Given the description of an element on the screen output the (x, y) to click on. 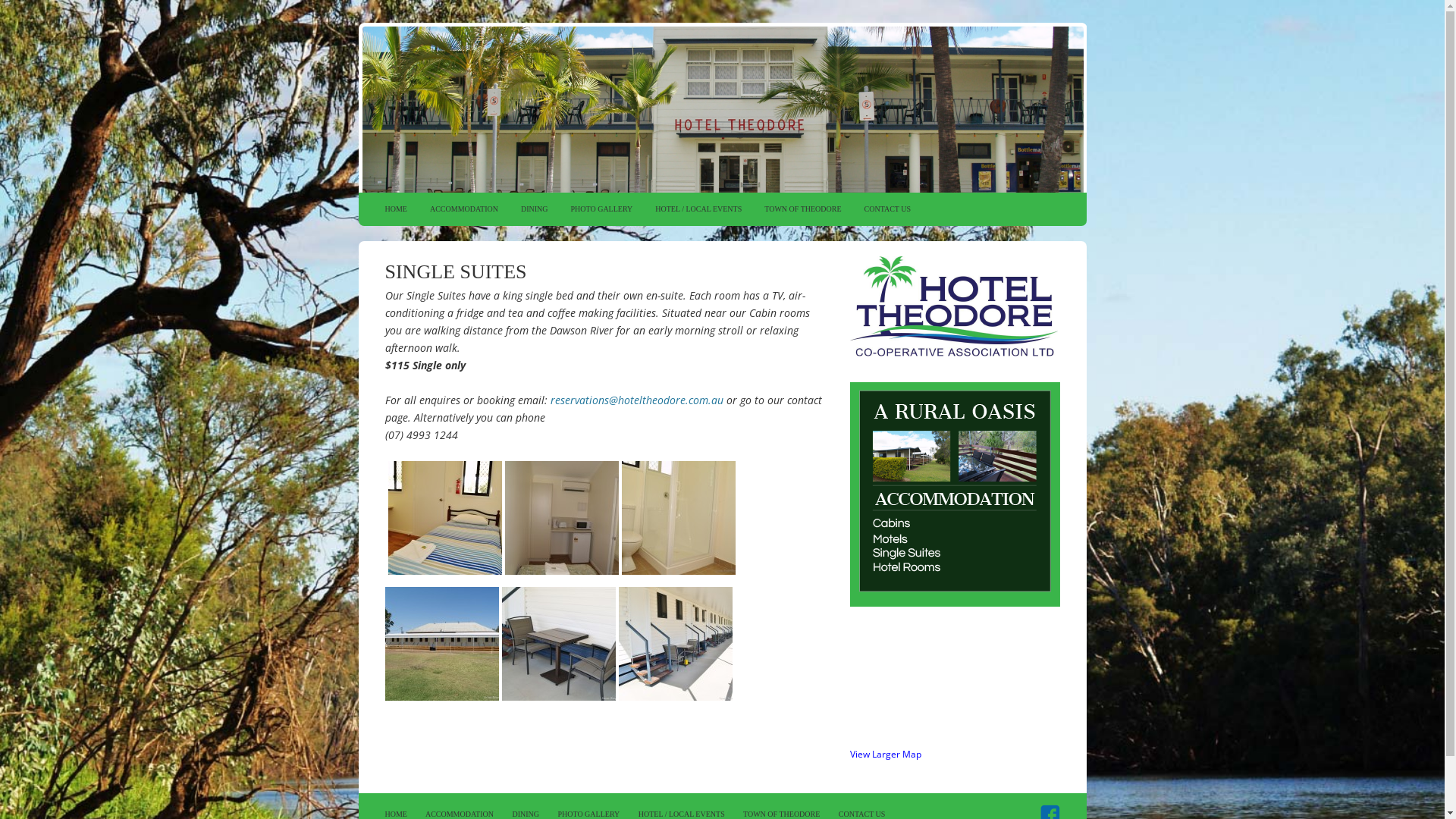
ACCOMMODATION Element type: text (463, 208)
HOME Element type: text (395, 208)
reservations@hoteltheodore.com.au Element type: text (636, 399)
CONTACT US Element type: text (887, 208)
ACCOMMODATION Element type: text (459, 813)
PHOTO GALLERY Element type: text (588, 813)
HOTEL / LOCAL EVENTS Element type: text (681, 813)
HOTEL THEODORE Element type: text (721, 107)
CONTACT US Element type: text (861, 813)
PHOTO GALLERY Element type: text (601, 208)
HOME Element type: text (396, 813)
TOWN OF THEODORE Element type: text (781, 813)
DINING Element type: text (525, 813)
View Larger Map Element type: text (884, 753)
HOTEL / LOCAL EVENTS Element type: text (698, 208)
TOWN OF THEODORE Element type: text (802, 208)
DINING Element type: text (534, 208)
